Given the description of an element on the screen output the (x, y) to click on. 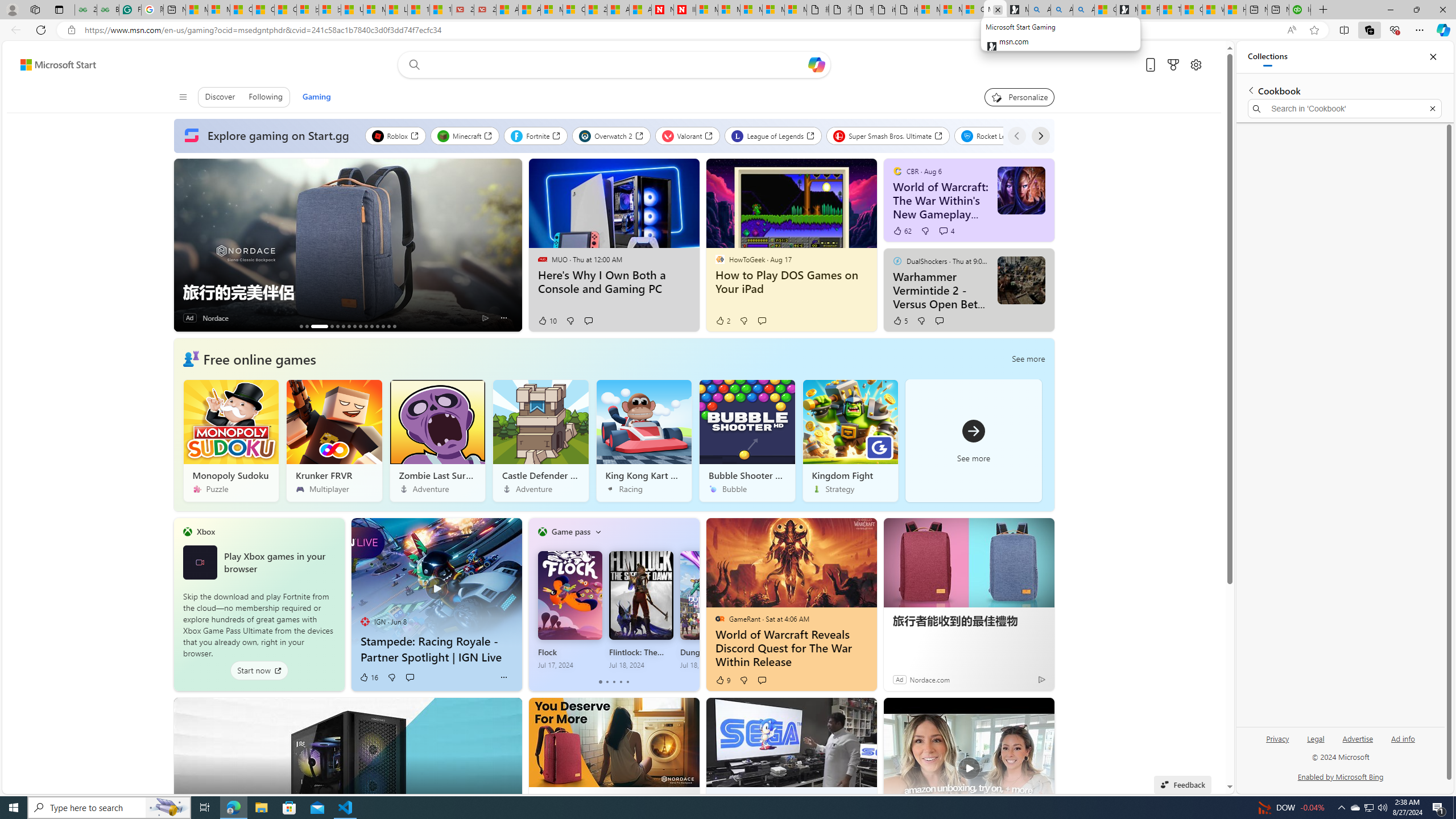
Best SSL Certificates Provider in India - GeeksforGeeks (107, 9)
Valorant (687, 135)
Select Category (598, 531)
Stampede: Racing Royale - Partner Spotlight | IGN Live (436, 582)
Game pass (570, 531)
AutomationID: tab_nativead-infopane-11 (371, 326)
Enter your search term (617, 64)
15 Ways Modern Life Contradicts the Teachings of Jesus (441, 9)
Consumer Health Data Privacy Policy (972, 9)
